Given the description of an element on the screen output the (x, y) to click on. 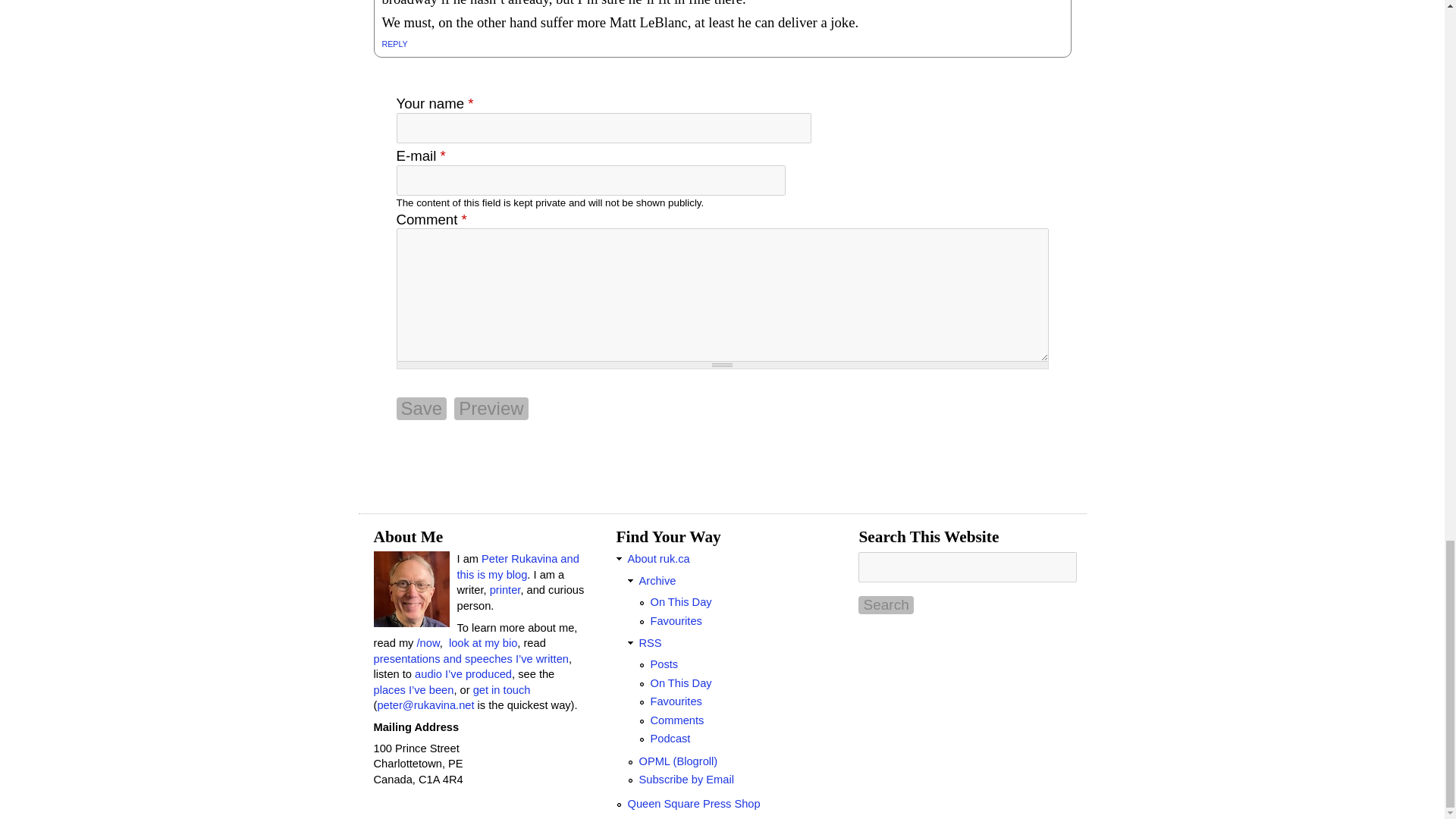
RSS (650, 643)
Peter Rukavina and this is my blog (517, 566)
Search (885, 605)
Save (421, 408)
Favourites (675, 621)
get in touch (502, 689)
Preview (490, 408)
Monthly archive of all posts on this site. (657, 580)
Archive (657, 580)
About ruk.ca (657, 558)
REPLY (394, 43)
On This Day (680, 602)
My favourite posts from other people's blogs. (675, 621)
Save (421, 408)
printer (505, 589)
